Given the description of an element on the screen output the (x, y) to click on. 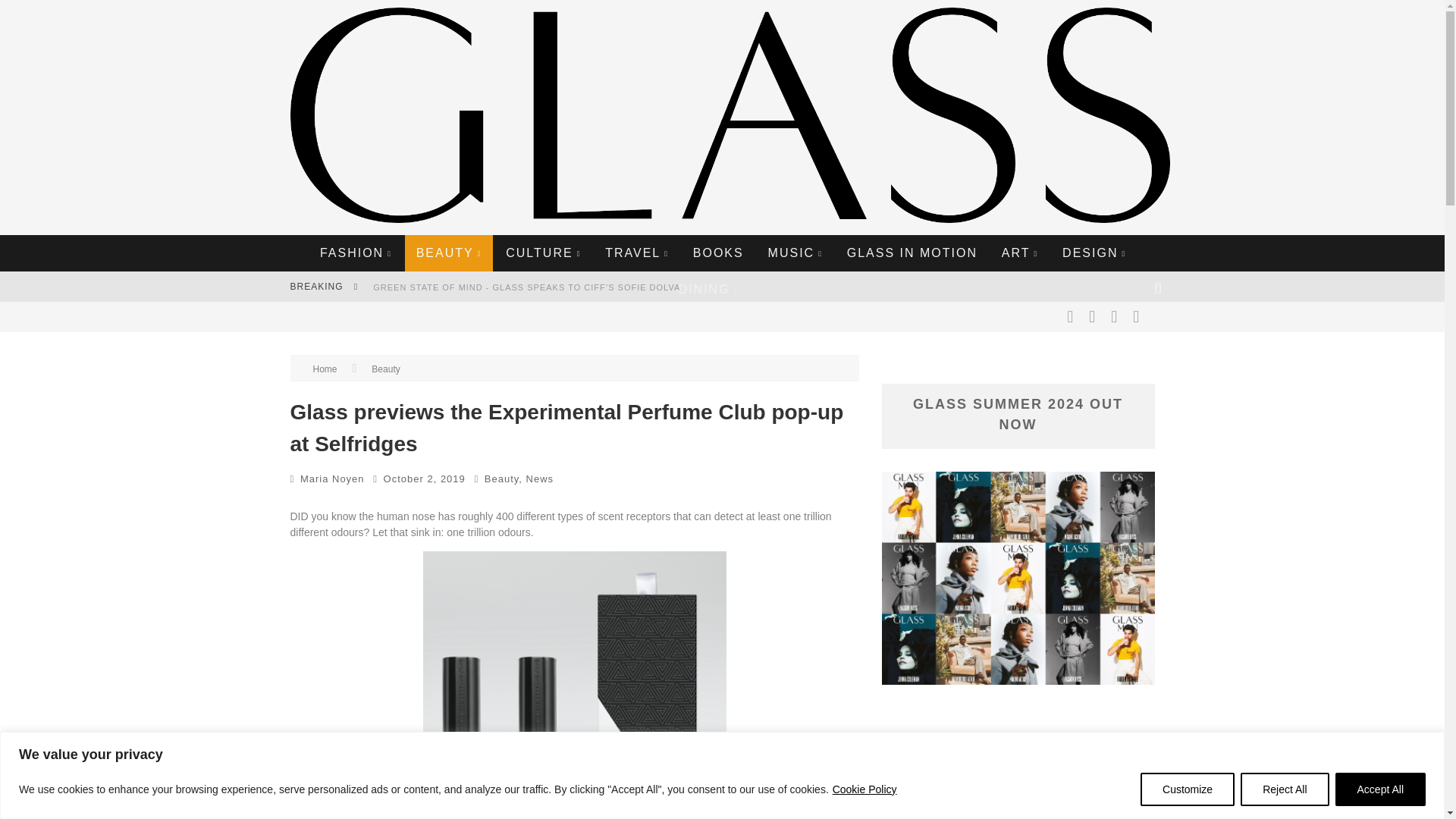
Accept All (1380, 788)
Reject All (1283, 788)
Cookie Policy (864, 789)
Customize (1187, 788)
